Given the description of an element on the screen output the (x, y) to click on. 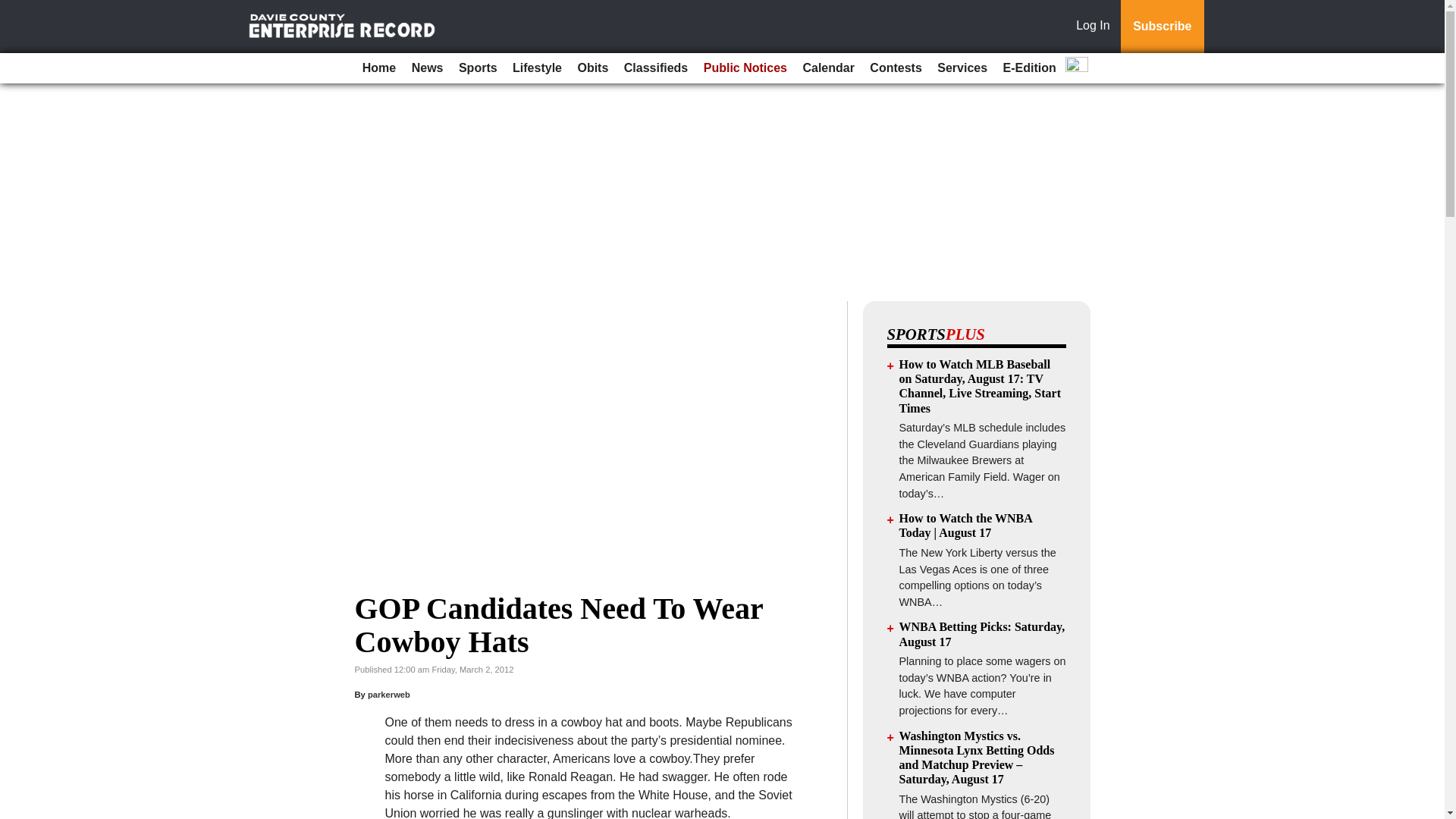
Calendar (828, 68)
Log In (1095, 26)
WNBA Betting Picks: Saturday, August 17 (982, 633)
Subscribe (1162, 26)
Go (13, 9)
Sports (477, 68)
E-Edition (1029, 68)
Public Notices (745, 68)
News (427, 68)
